Given the description of an element on the screen output the (x, y) to click on. 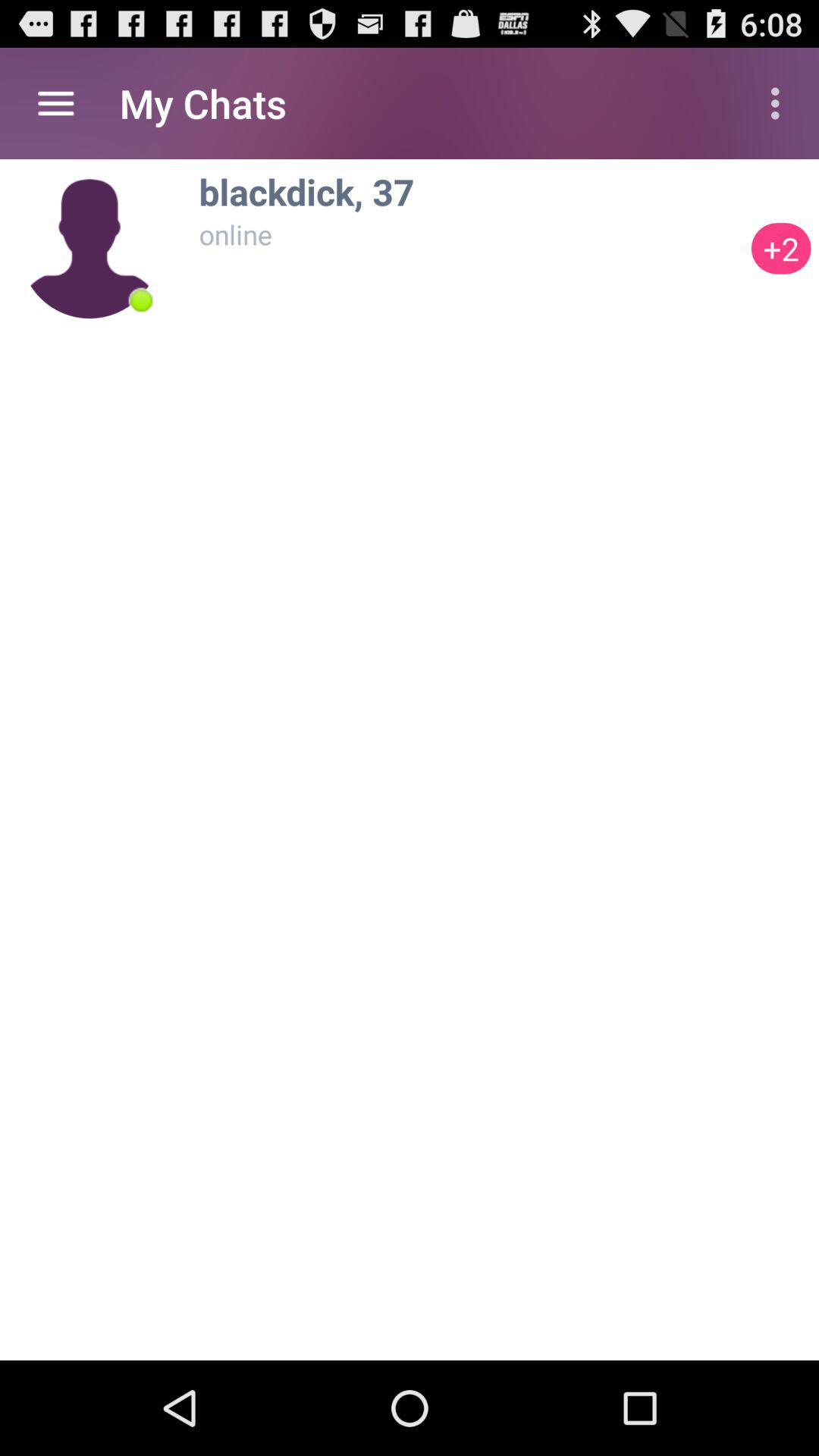
press the online item (471, 234)
